Given the description of an element on the screen output the (x, y) to click on. 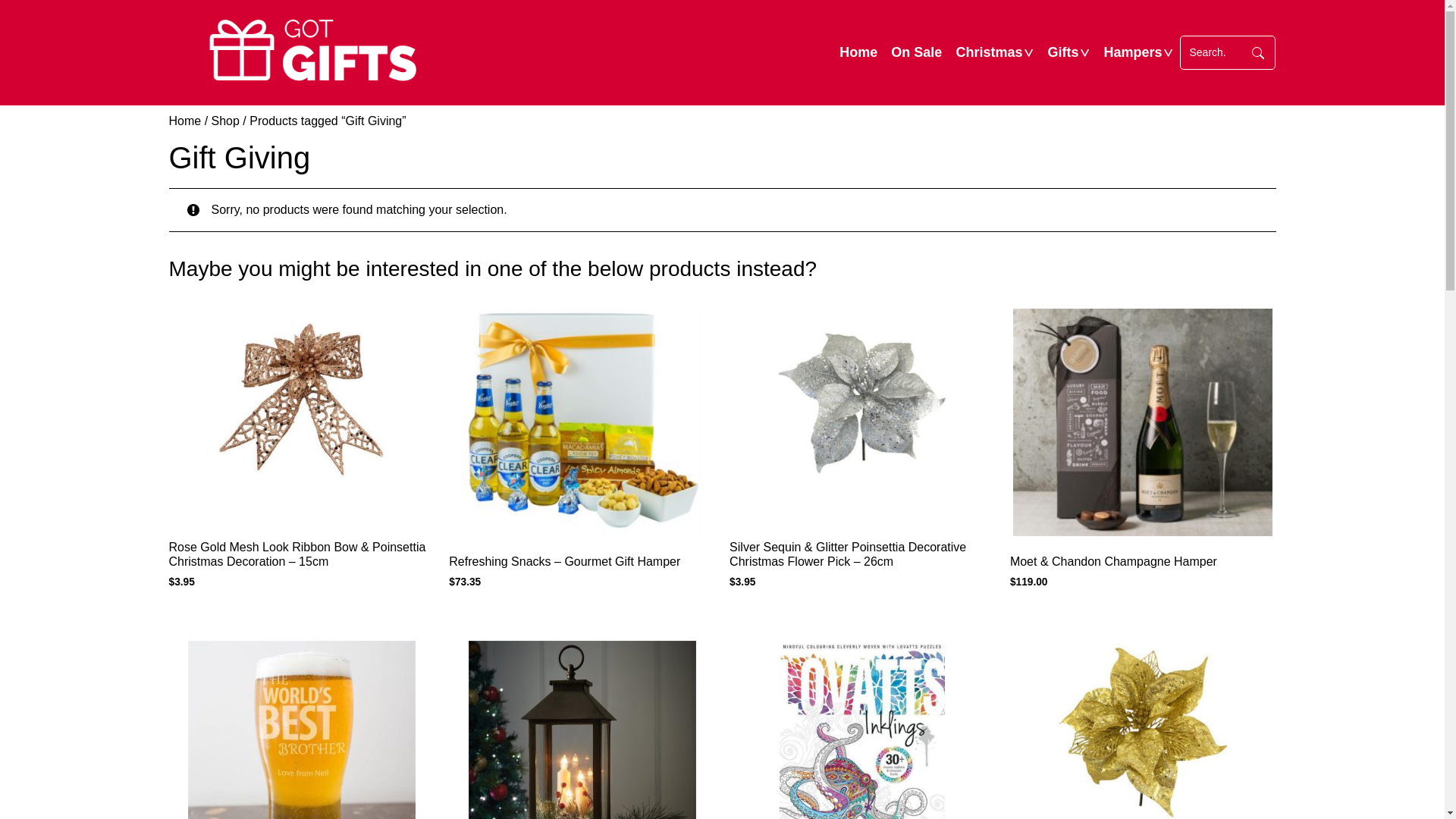
Christmas Element type: text (988, 52)
Moet & Chandon Champagne Hamper
$119.00 Element type: text (1143, 449)
Hampers Element type: text (1132, 52)
Gifts Element type: text (1062, 52)
Home Element type: text (184, 120)
Skip to content Element type: text (721, 0)
Celebrate the best Gifts online! Element type: hover (311, 52)
Search Element type: text (1257, 52)
On Sale Element type: text (916, 52)
Home Element type: text (858, 52)
Shop Element type: text (225, 120)
Search Element type: hover (1212, 52)
